Given the description of an element on the screen output the (x, y) to click on. 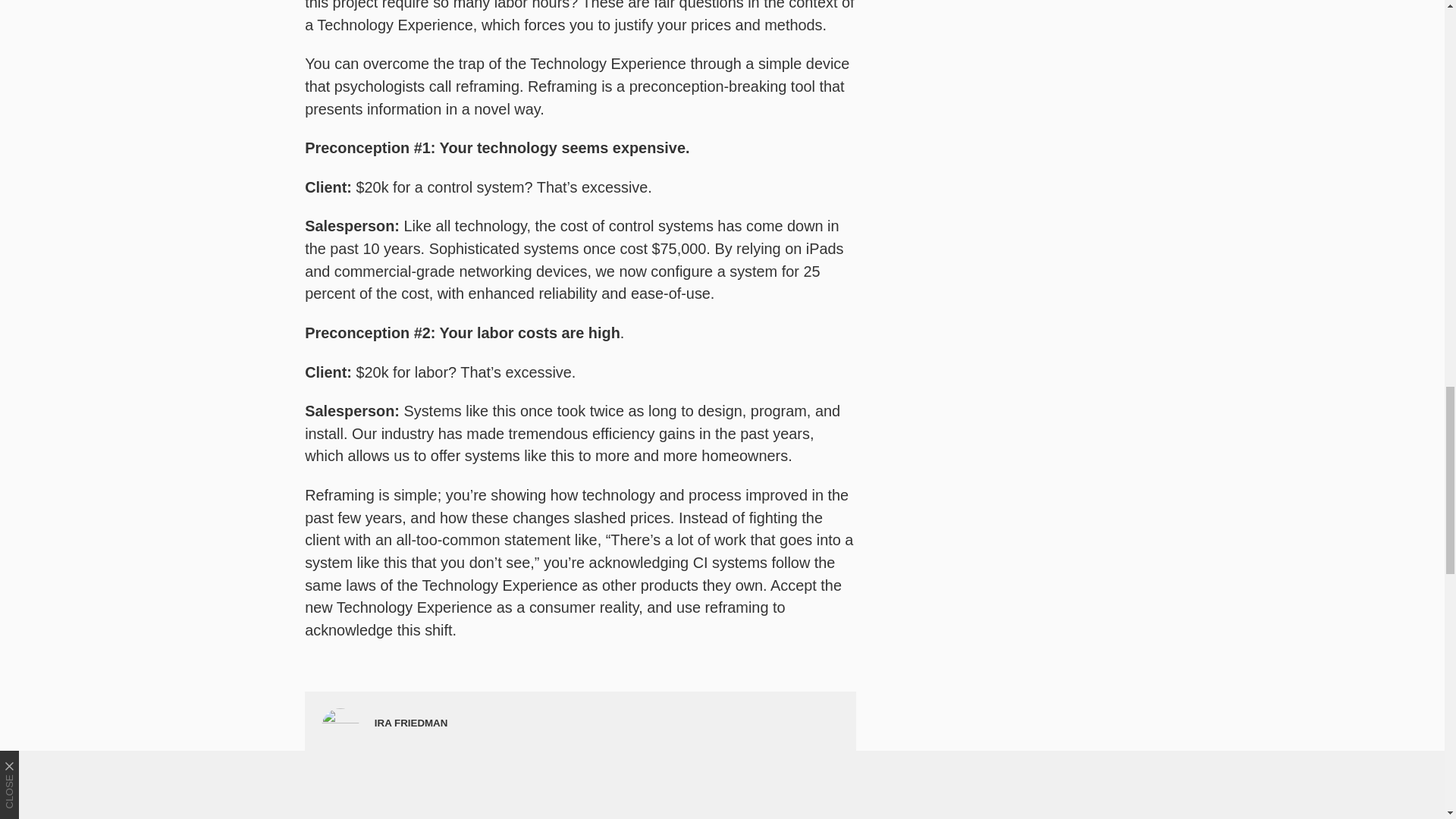
Ira Friedman's Author Profile (411, 722)
